Given the description of an element on the screen output the (x, y) to click on. 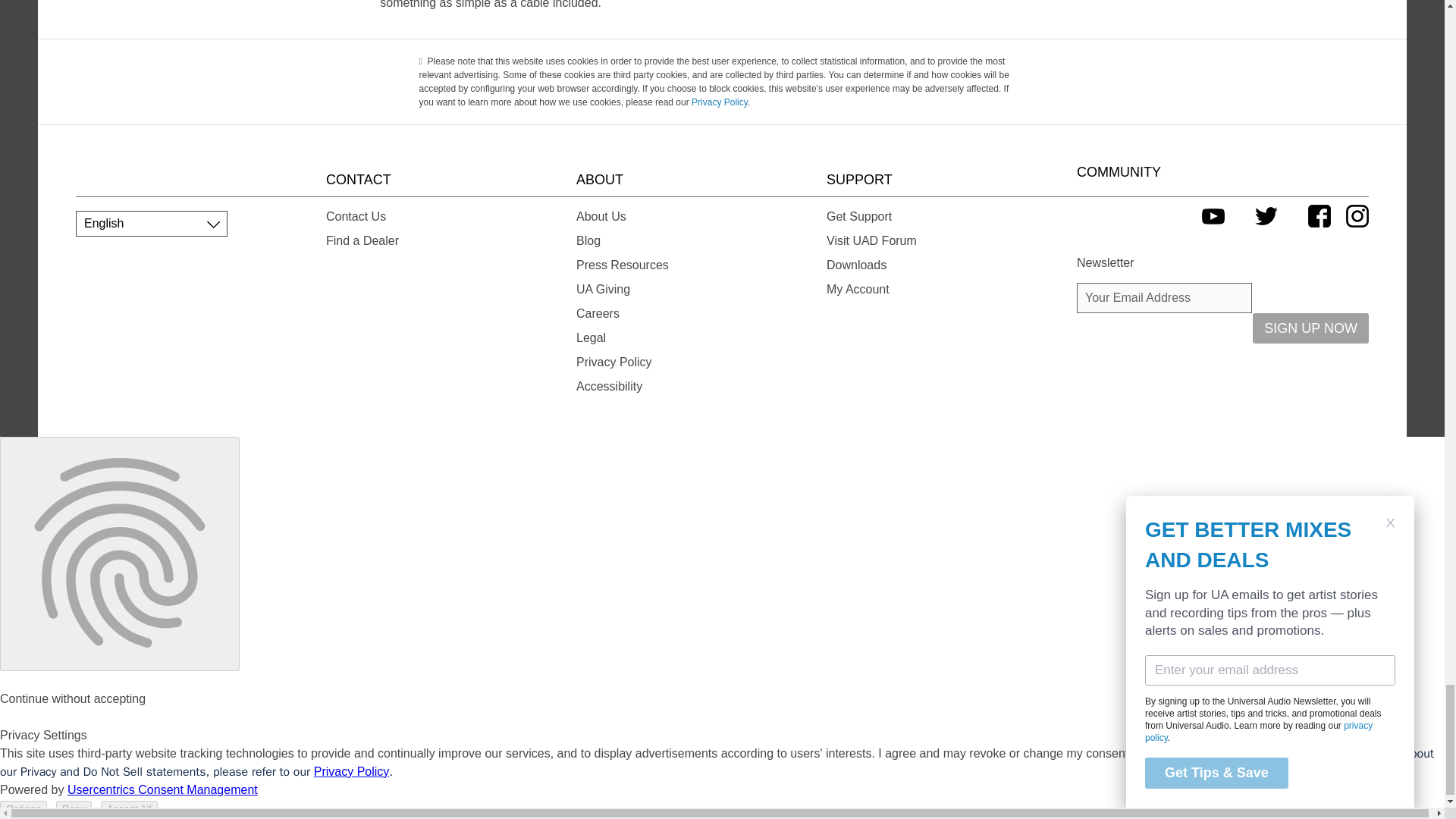
SIGN UP NOW (1310, 327)
